Given the description of an element on the screen output the (x, y) to click on. 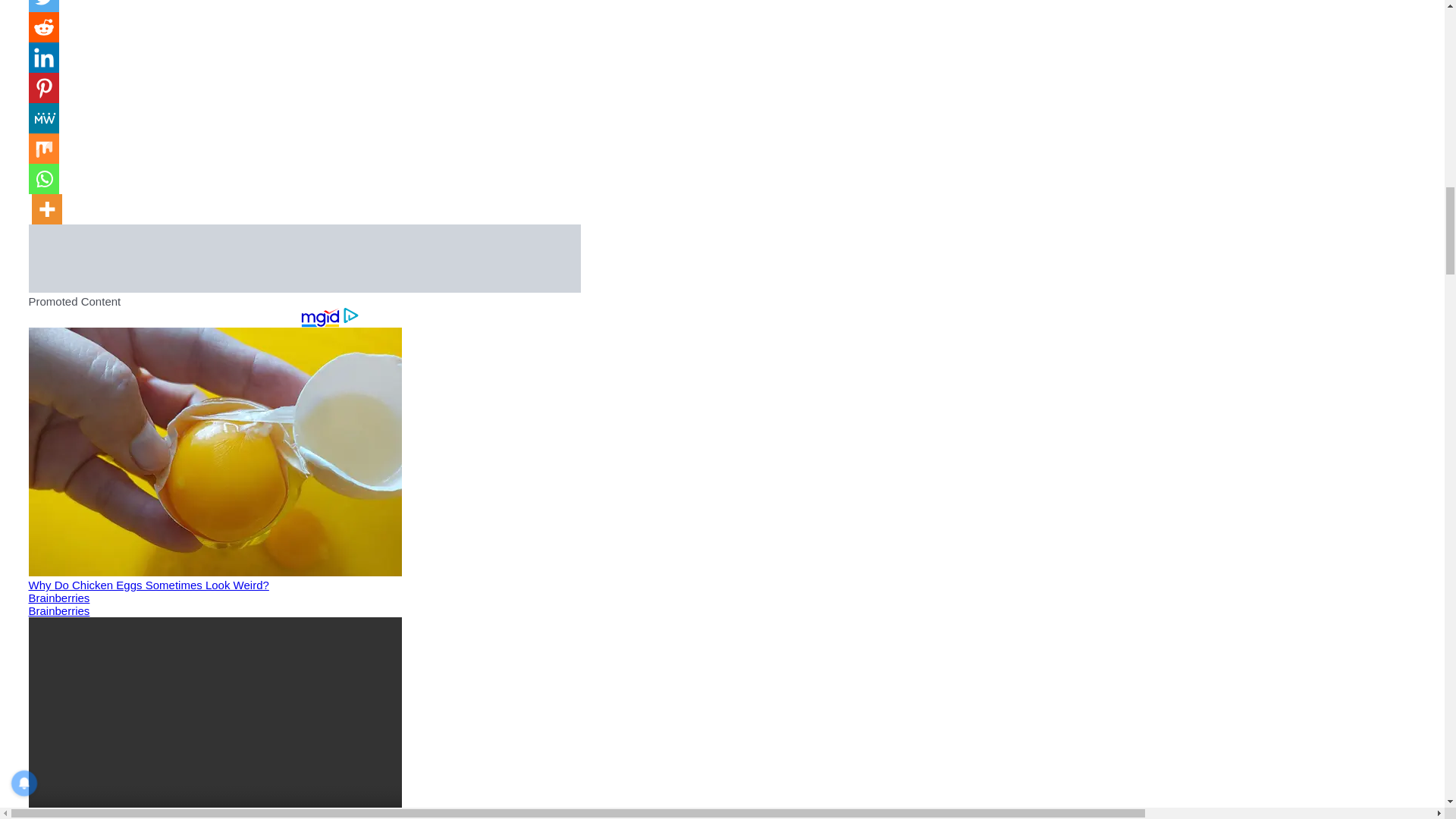
Reddit (44, 27)
Linkedin (44, 57)
Twitter (44, 6)
Pinterest (44, 87)
